Given the description of an element on the screen output the (x, y) to click on. 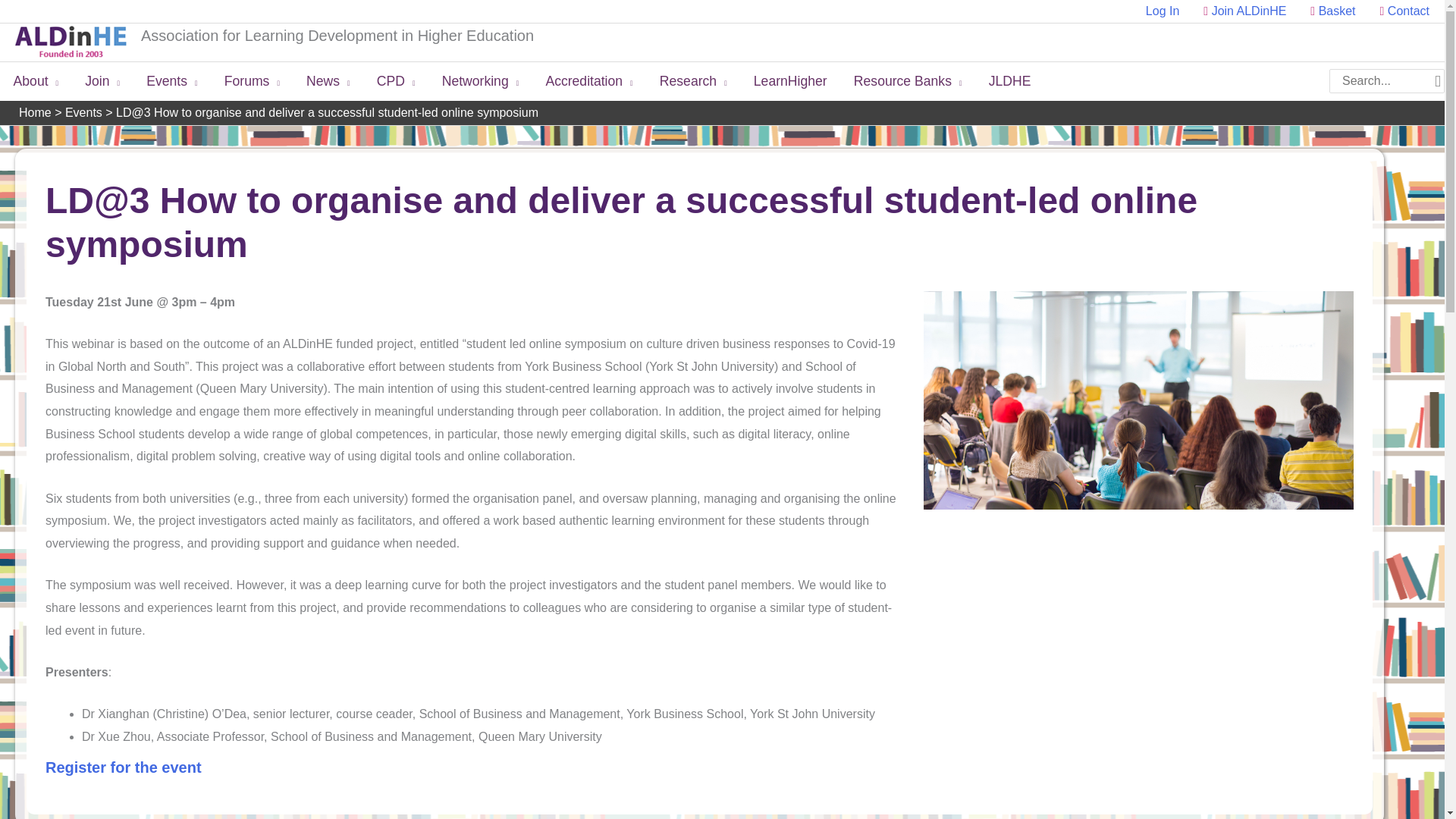
About ALDinHE (35, 80)
About (35, 80)
Contact ALDinHE (1398, 11)
Join (102, 80)
Log In (1162, 11)
Contact (1398, 11)
Join the ALDinHE community (1244, 11)
Join ALDinHE (1244, 11)
Events (172, 80)
Basket (1332, 11)
